Given the description of an element on the screen output the (x, y) to click on. 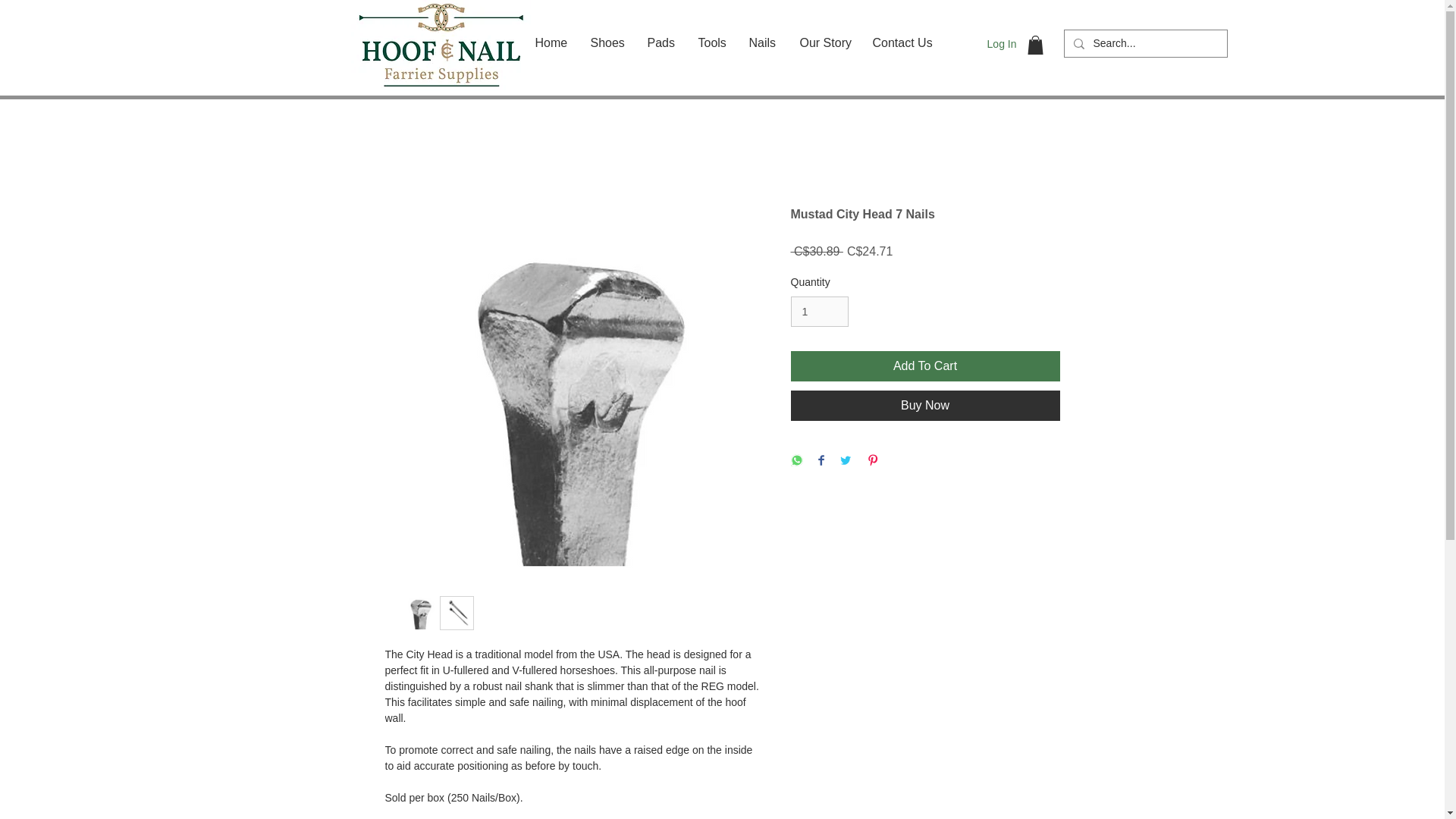
1 (818, 311)
Contact Us (902, 43)
Our Story (825, 43)
Shoes (607, 43)
Buy Now (924, 405)
Nails (761, 43)
Tools (712, 43)
Pads (659, 43)
Log In (1001, 44)
Home (550, 43)
Add To Cart (924, 366)
